Given the description of an element on the screen output the (x, y) to click on. 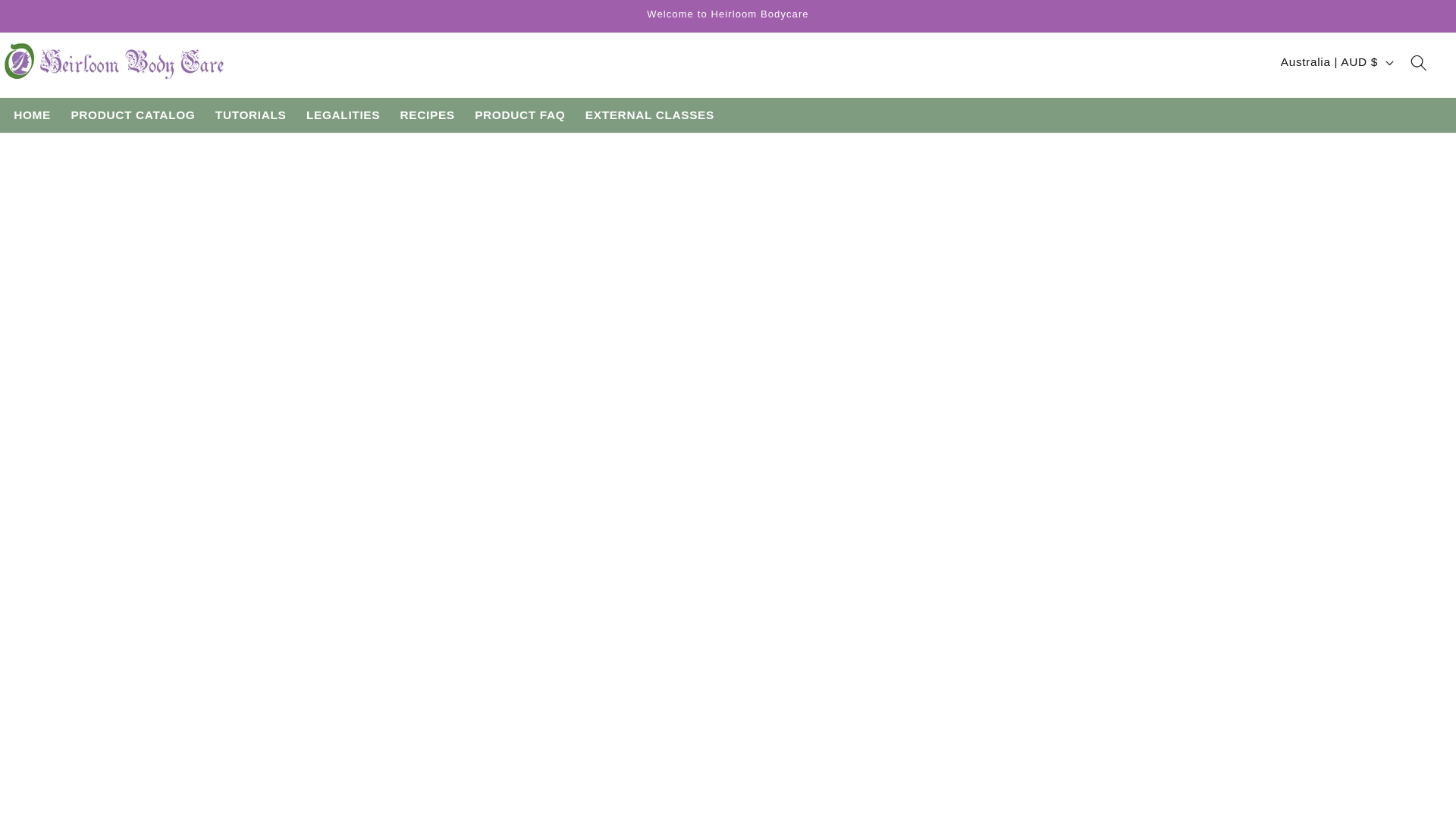
PRODUCT CATALOG (133, 114)
PRODUCT FAQ (519, 114)
RECIPES (427, 114)
LEGALITIES (343, 114)
HOME (32, 114)
Skip to content (50, 19)
EXTERNAL CLASSES (650, 114)
TUTORIALS (251, 114)
